Given the description of an element on the screen output the (x, y) to click on. 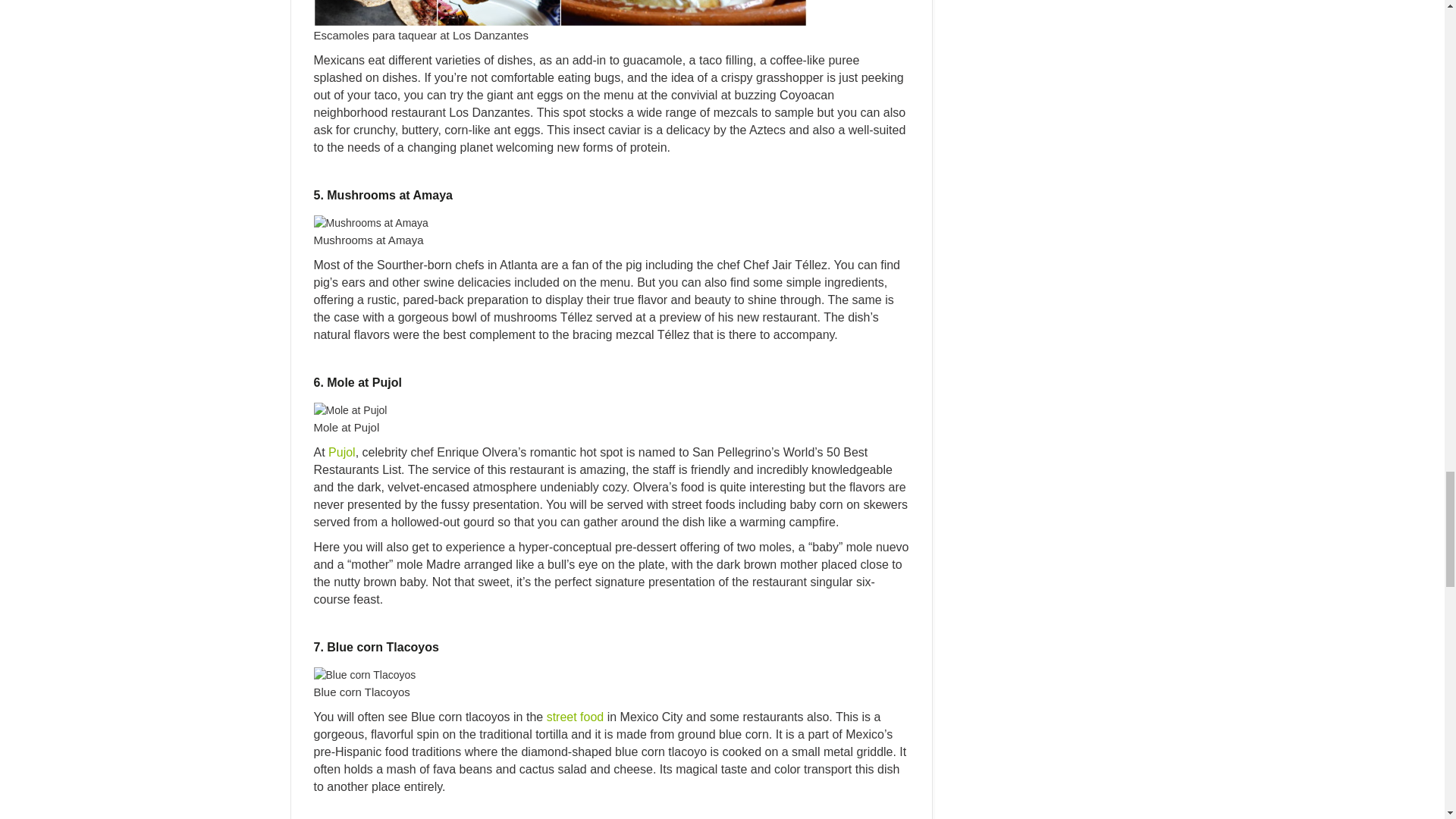
Top 10 Foods you must Taste in Mexico City (371, 222)
street food (575, 716)
Top 10 Foods you must Taste in Mexico City (365, 675)
Top 10 Foods you must Taste in Mexico City (350, 410)
Top 10 Foods you must Taste in Mexico City (560, 13)
Pujol (342, 451)
